Given the description of an element on the screen output the (x, y) to click on. 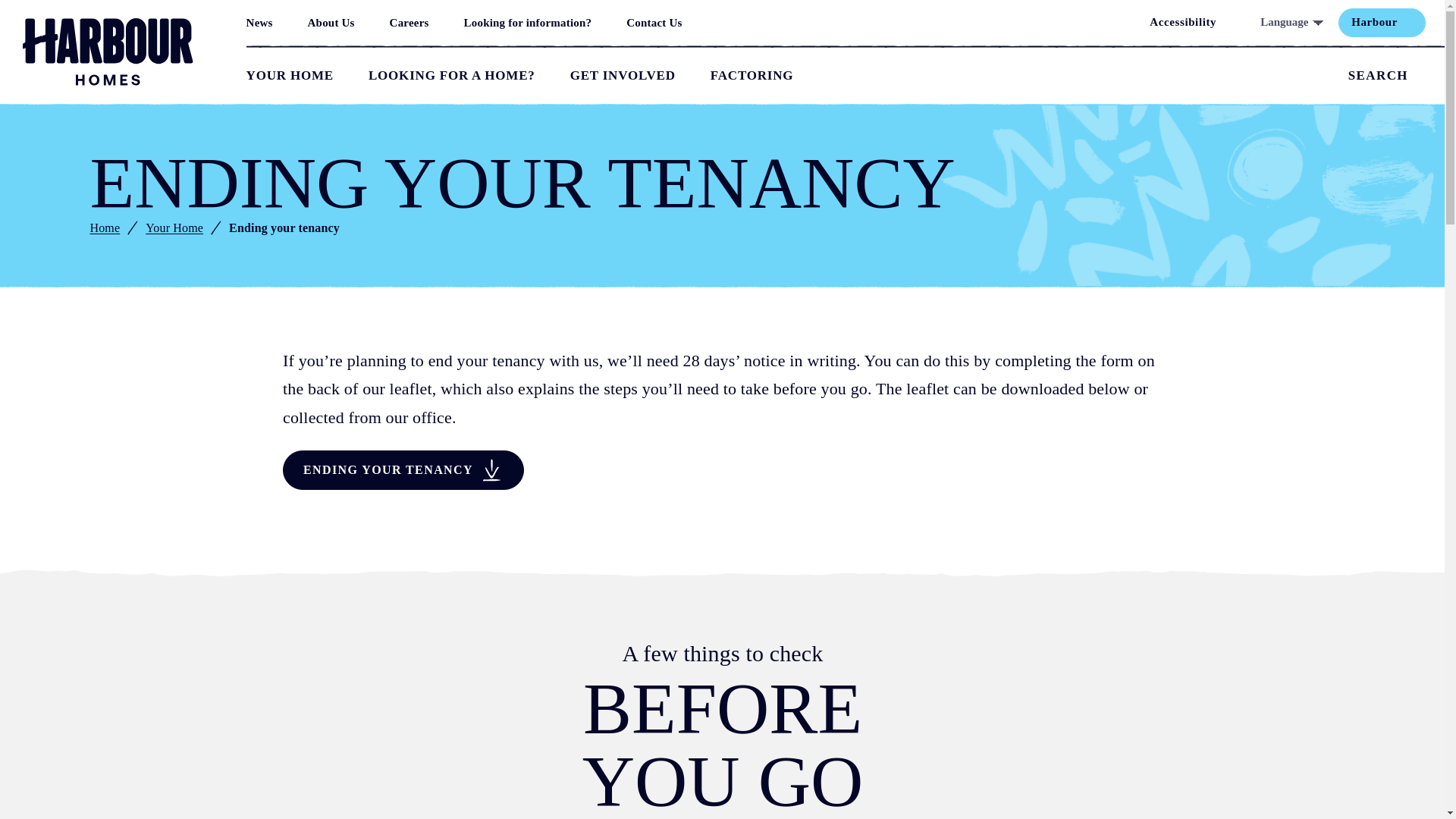
About Us (331, 22)
YOUR HOME (289, 75)
Accessibility (1191, 22)
Harbour (1381, 22)
Contact Us (653, 22)
Looking for information? (528, 22)
SEARCH (1386, 75)
FACTORING (751, 75)
LOOKING FOR A HOME? (451, 75)
GET INVOLVED (622, 75)
